Given the description of an element on the screen output the (x, y) to click on. 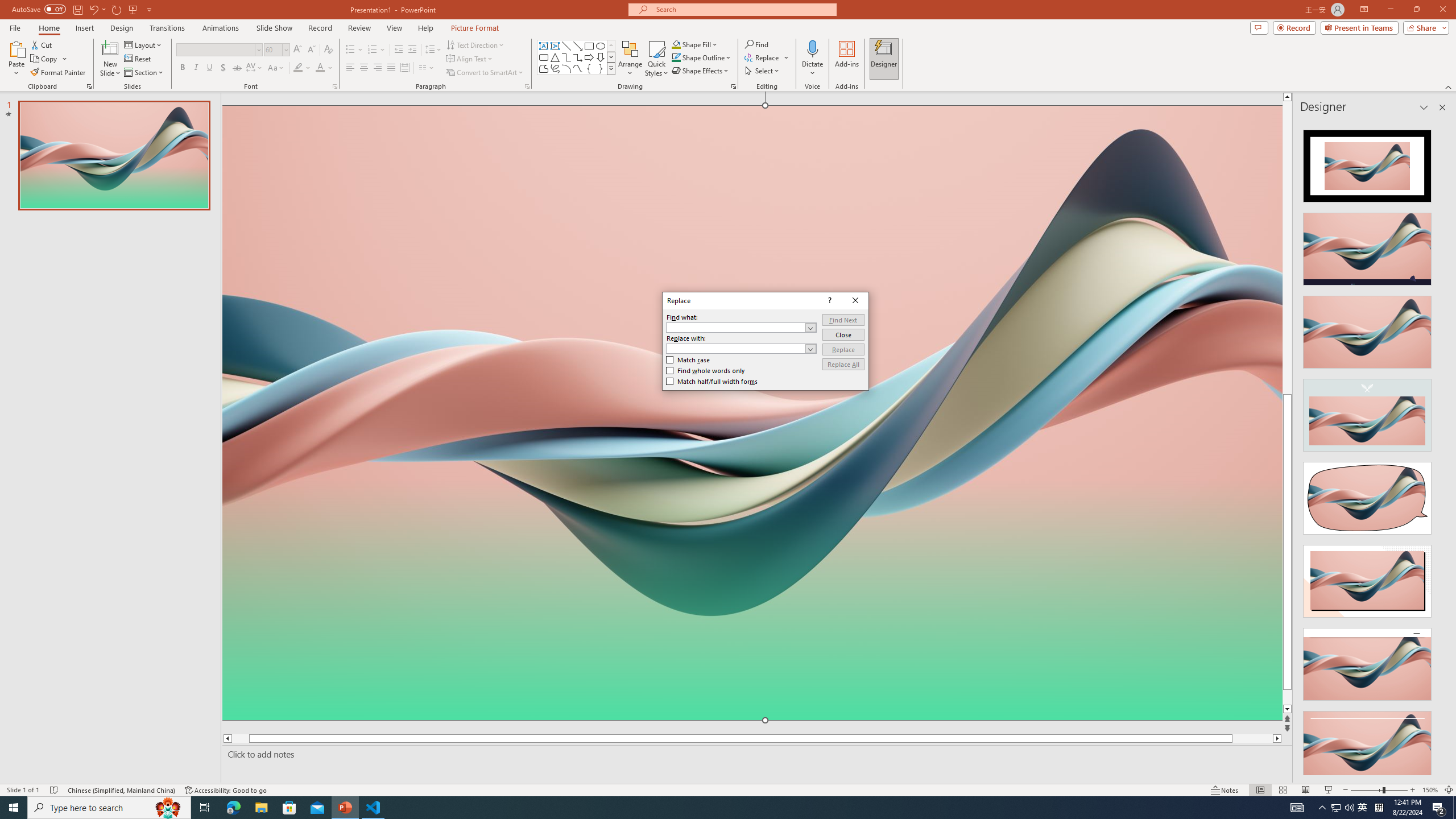
Find Next (842, 319)
